Given the description of an element on the screen output the (x, y) to click on. 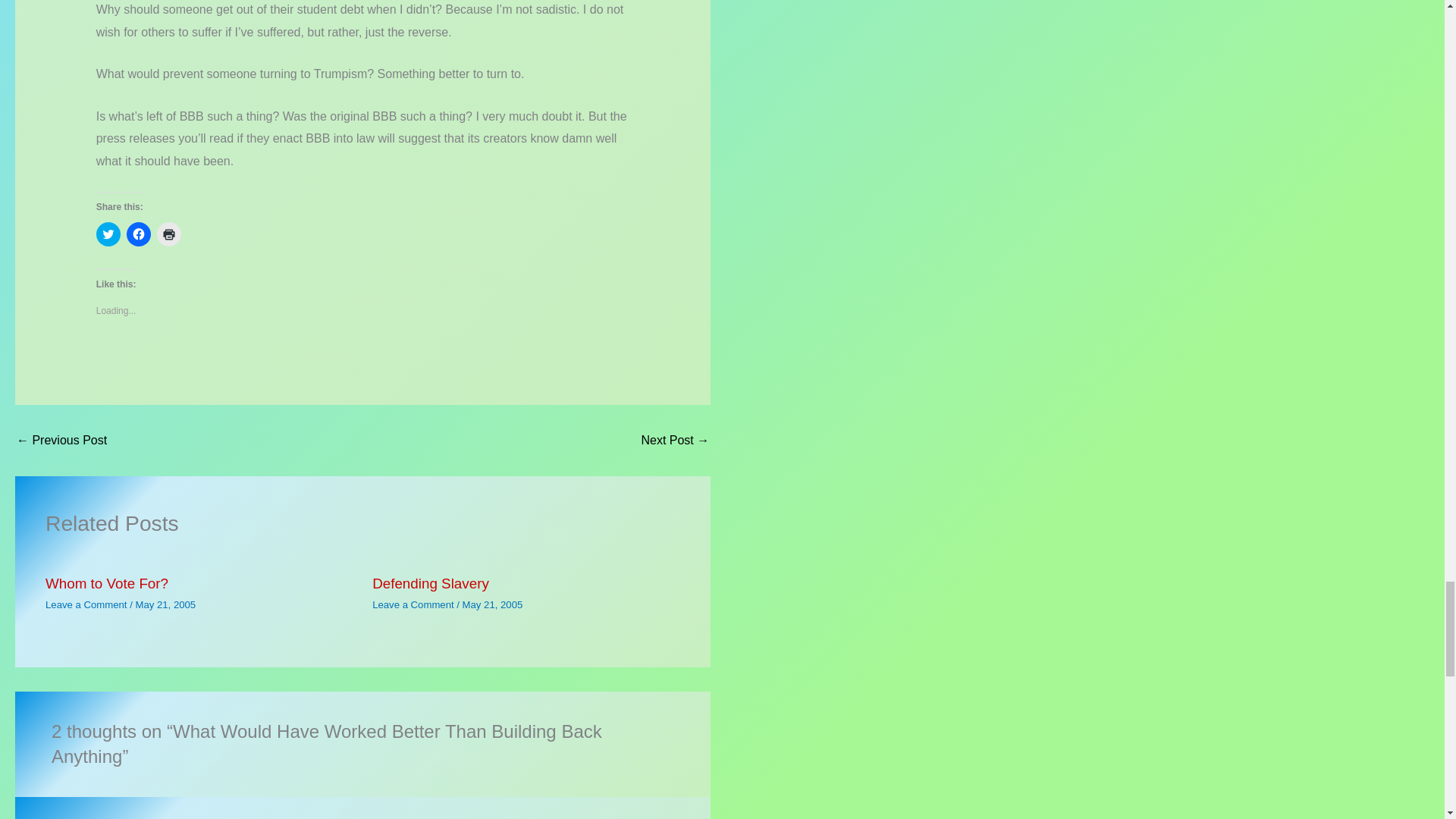
Click to share on Facebook (138, 233)
Talk World Radio: Chris Gelardi on Guam Resisting Empire (674, 440)
Click to share on Twitter (108, 233)
Click to print (168, 233)
